Given the description of an element on the screen output the (x, y) to click on. 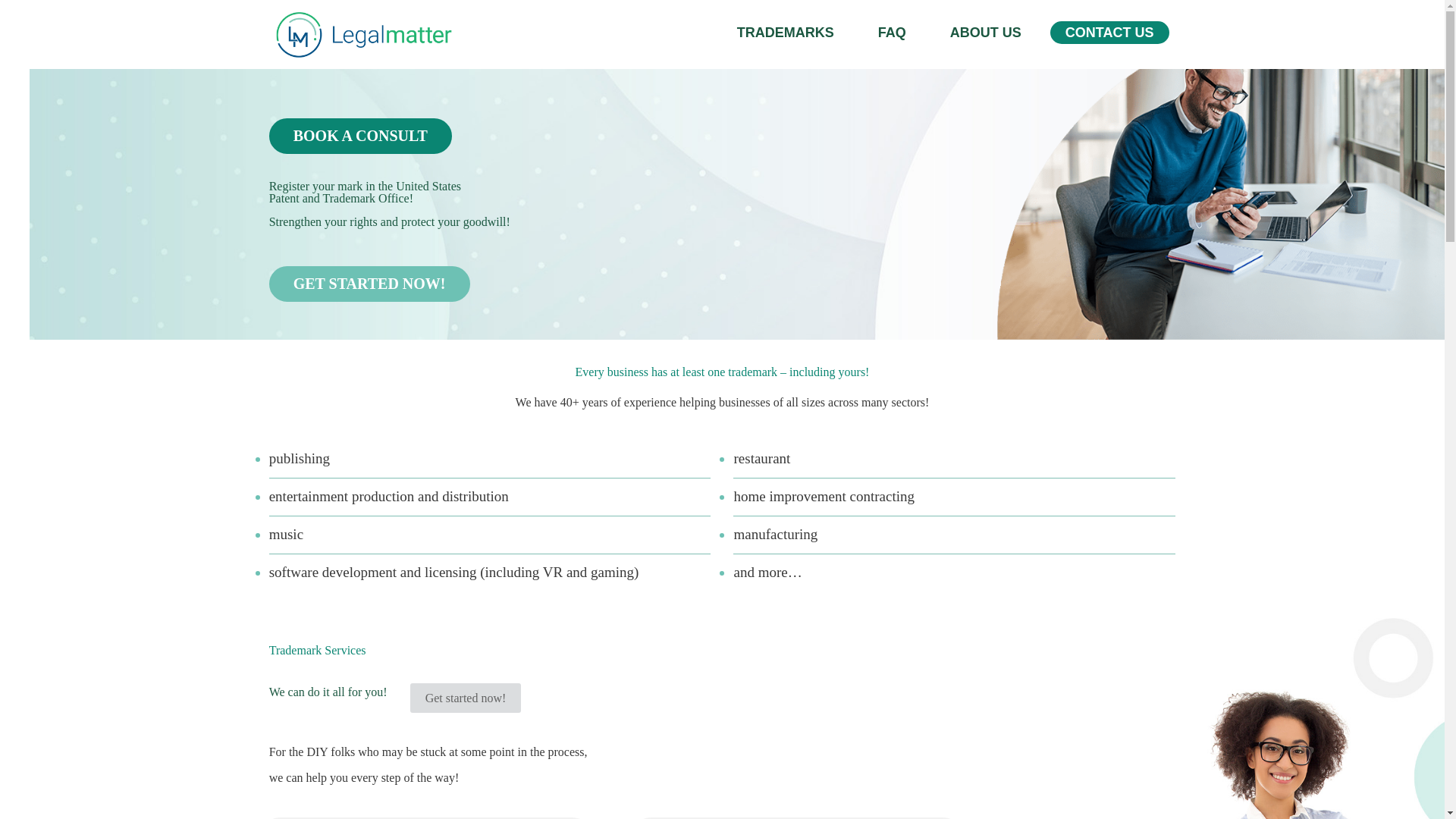
TRADEMARKS (785, 28)
Get started now! (465, 697)
ABOUT US (985, 28)
FAQ (892, 28)
GET STARTED NOW! (369, 284)
CONTACT US (1109, 28)
Legalmatter, P.C. (362, 33)
BOOK A CONSULT (360, 135)
